Given the description of an element on the screen output the (x, y) to click on. 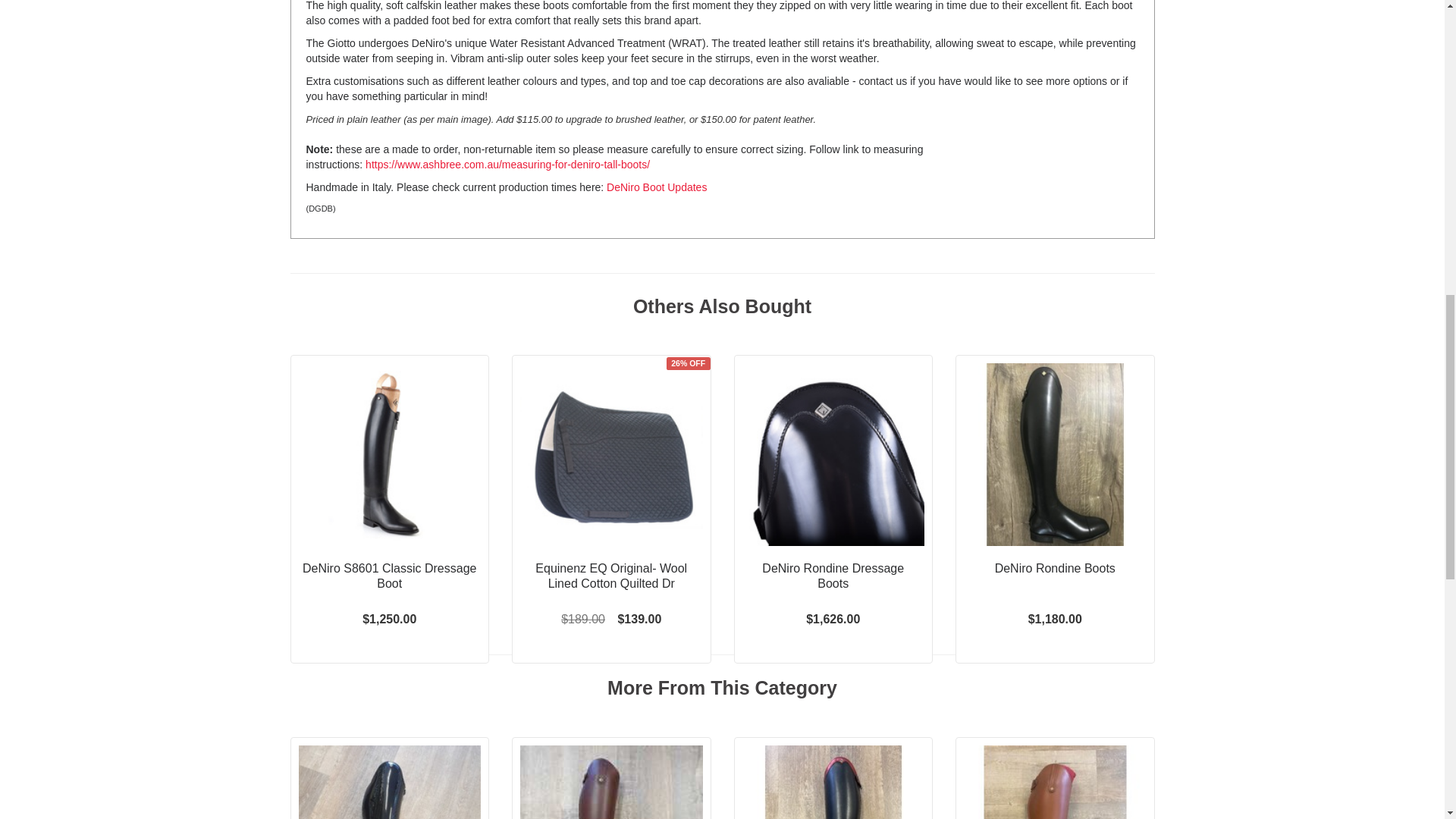
DeNiro Rondine Dressage Boots (833, 576)
DeNiro S8601 Classic Dressage Boot (389, 576)
DeNiro Rondine Boots (1055, 568)
